Given the description of an element on the screen output the (x, y) to click on. 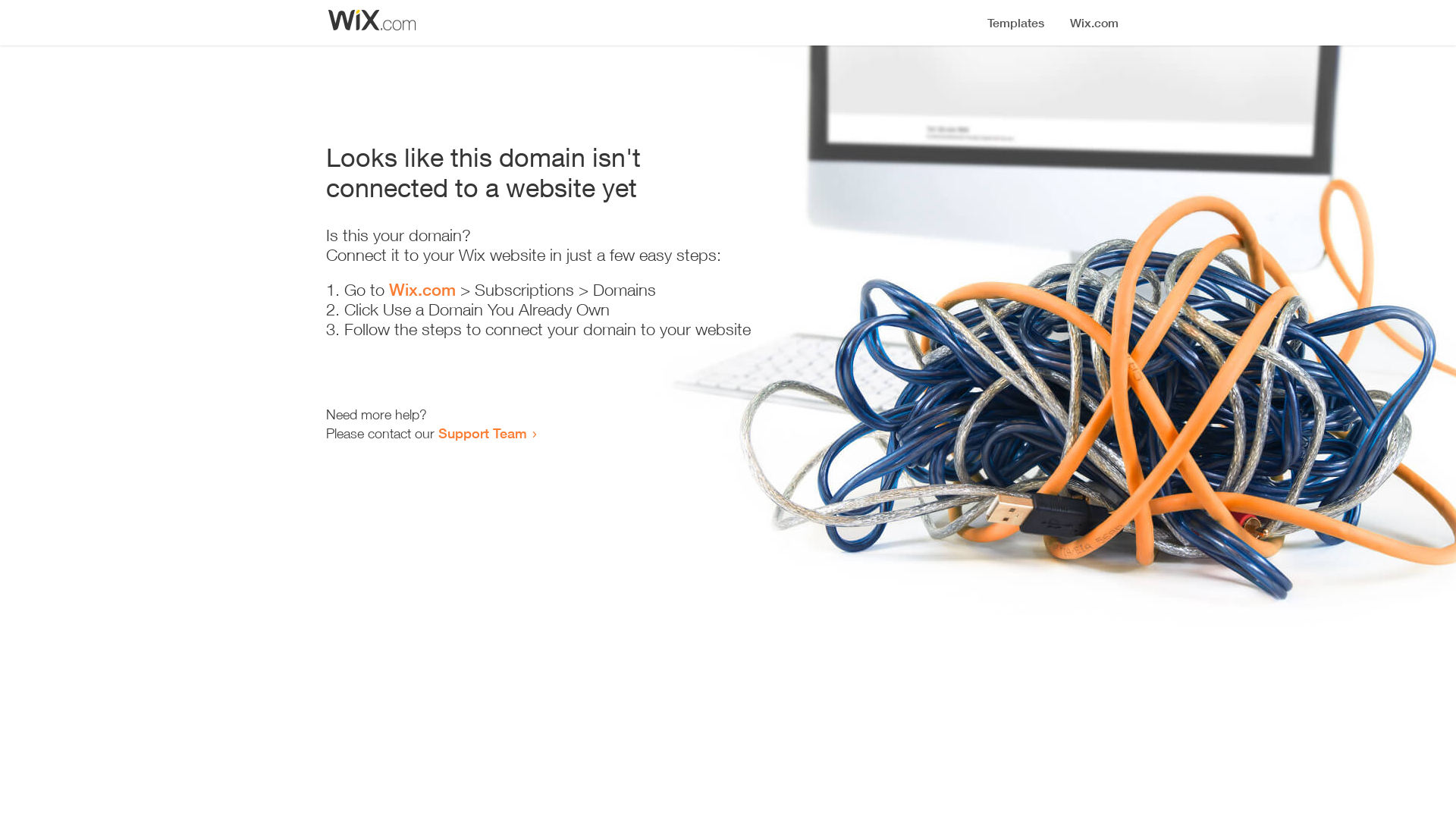
Support Team Element type: text (482, 432)
Wix.com Element type: text (422, 289)
